Given the description of an element on the screen output the (x, y) to click on. 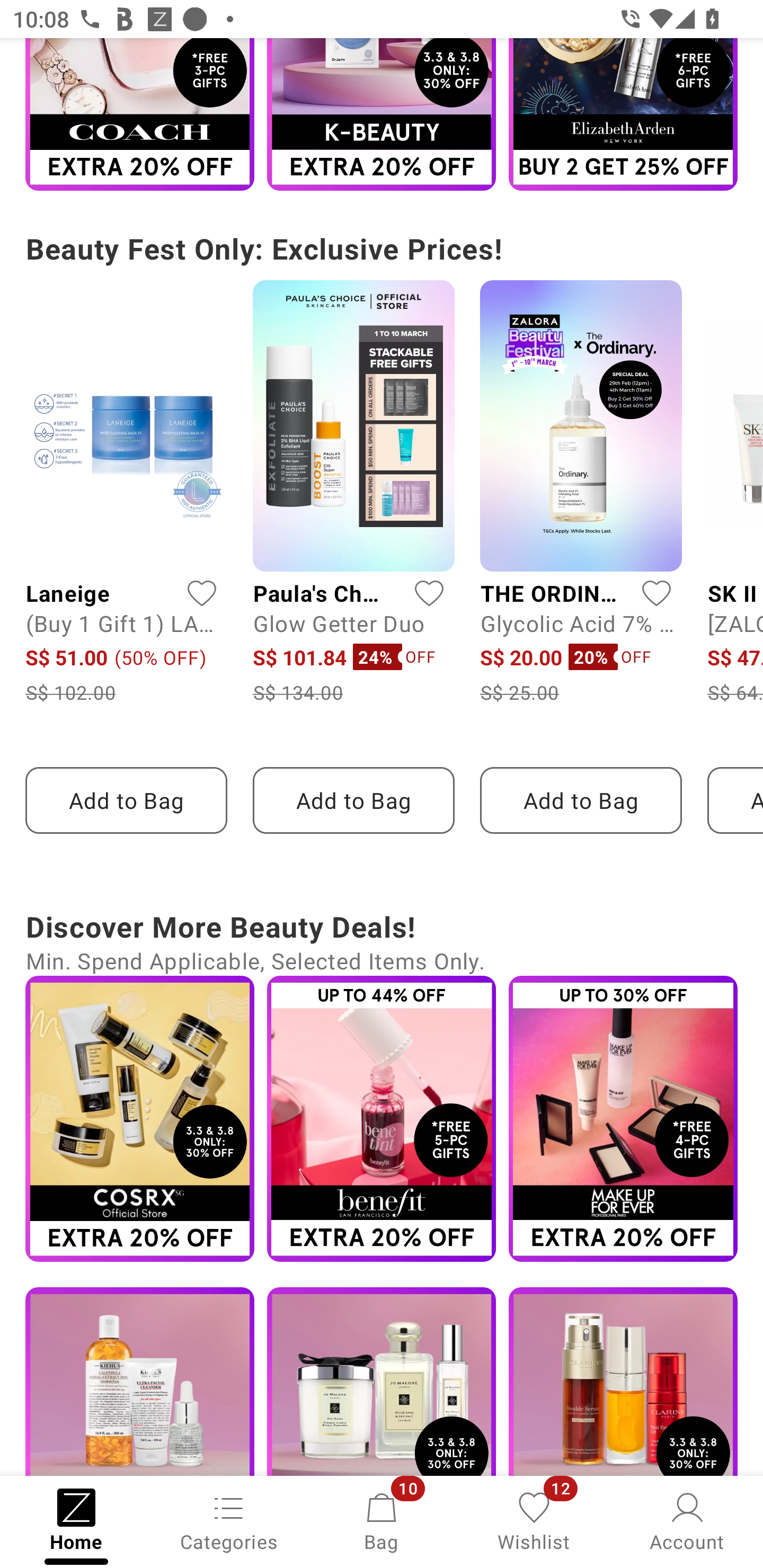
Campaign banner (139, 114)
Campaign banner (381, 114)
Campaign banner (622, 114)
Add to Bag (126, 800)
Add to Bag (353, 800)
Add to Bag (580, 800)
Campaign banner (139, 1118)
Campaign banner (381, 1118)
Campaign banner (622, 1118)
Campaign banner (139, 1381)
Campaign banner (381, 1381)
Campaign banner (622, 1381)
Categories (228, 1519)
Bag, 10 new notifications Bag (381, 1519)
Wishlist, 12 new notifications Wishlist (533, 1519)
Account (686, 1519)
